Given the description of an element on the screen output the (x, y) to click on. 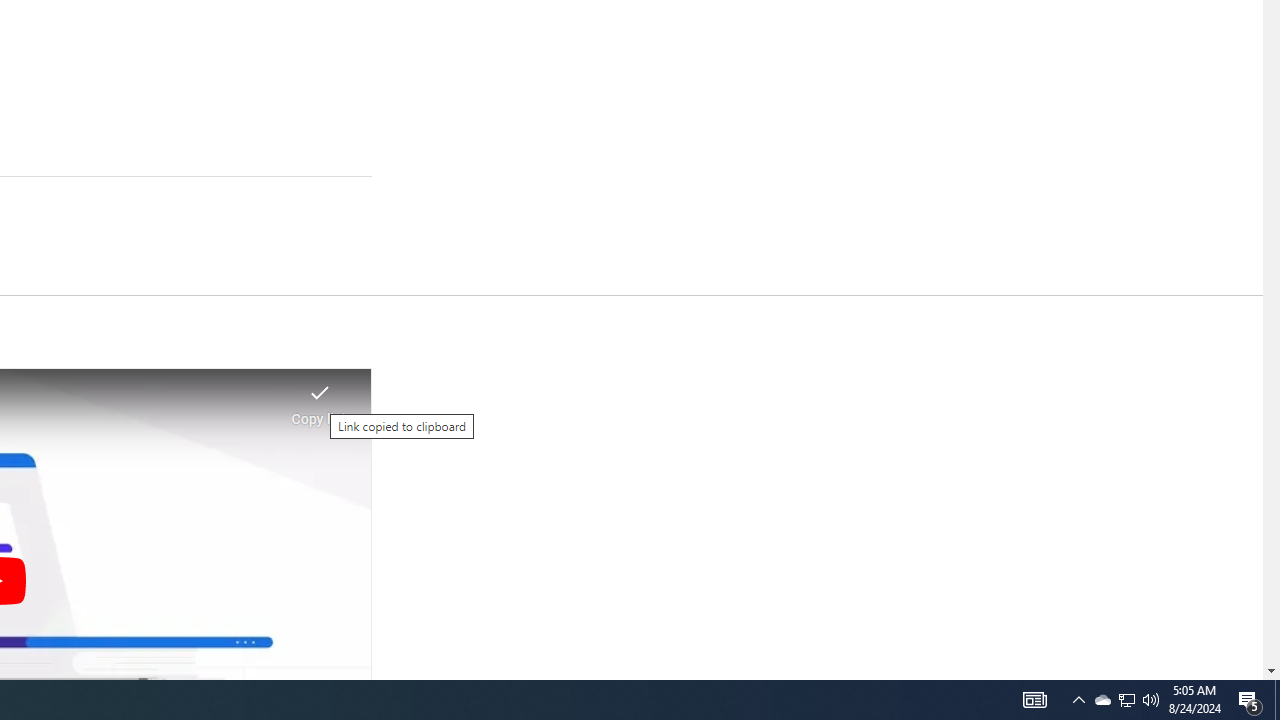
Link copied to clipboard (319, 398)
